Given the description of an element on the screen output the (x, y) to click on. 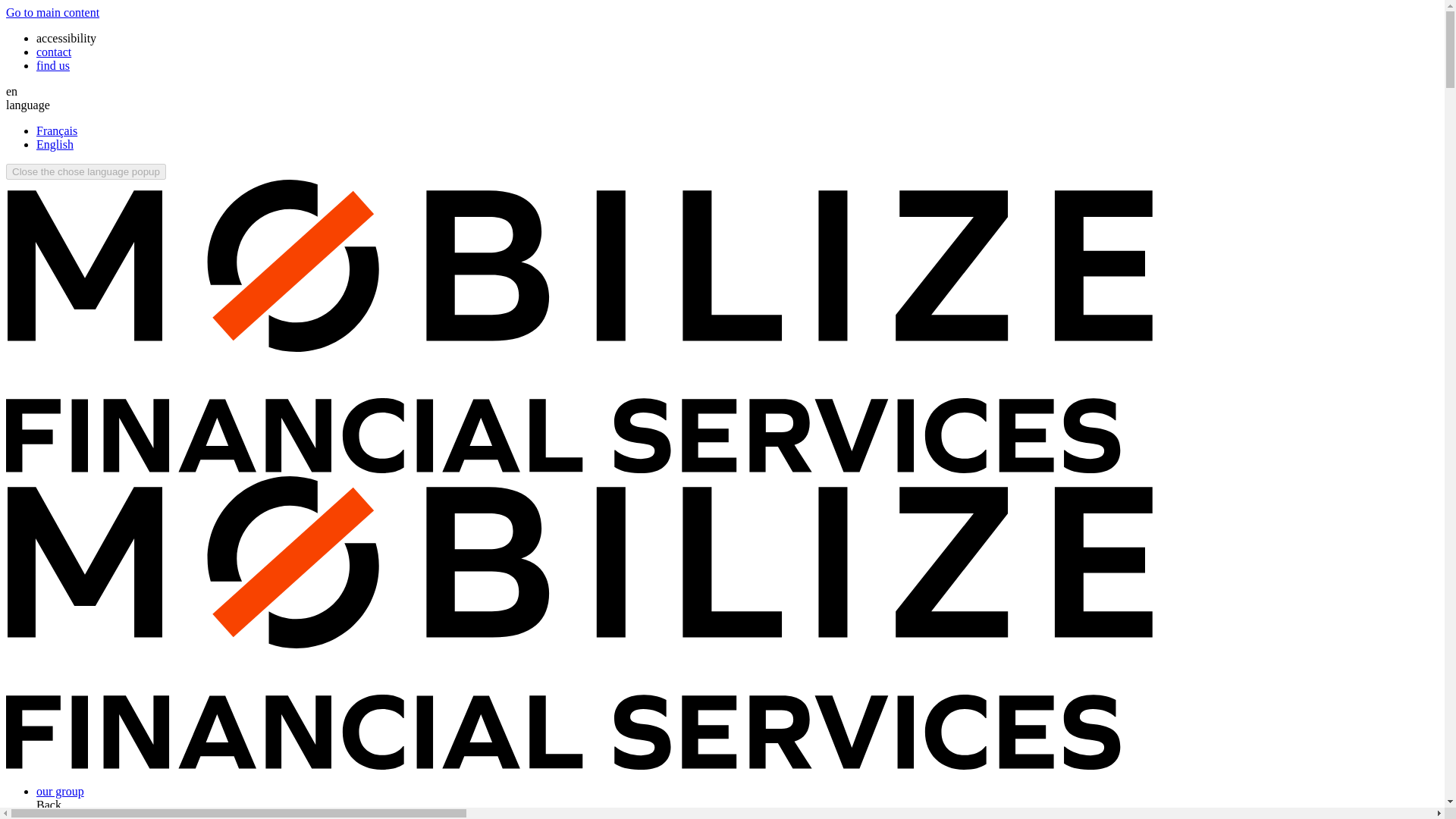
Back (48, 804)
find us (52, 65)
contact (53, 51)
English (55, 144)
accessibility (66, 38)
Active language: en (11, 91)
Go to main content (52, 11)
Close the chose language popup (85, 171)
Close the chose language popup (85, 171)
our group (60, 790)
en (11, 91)
